Given the description of an element on the screen output the (x, y) to click on. 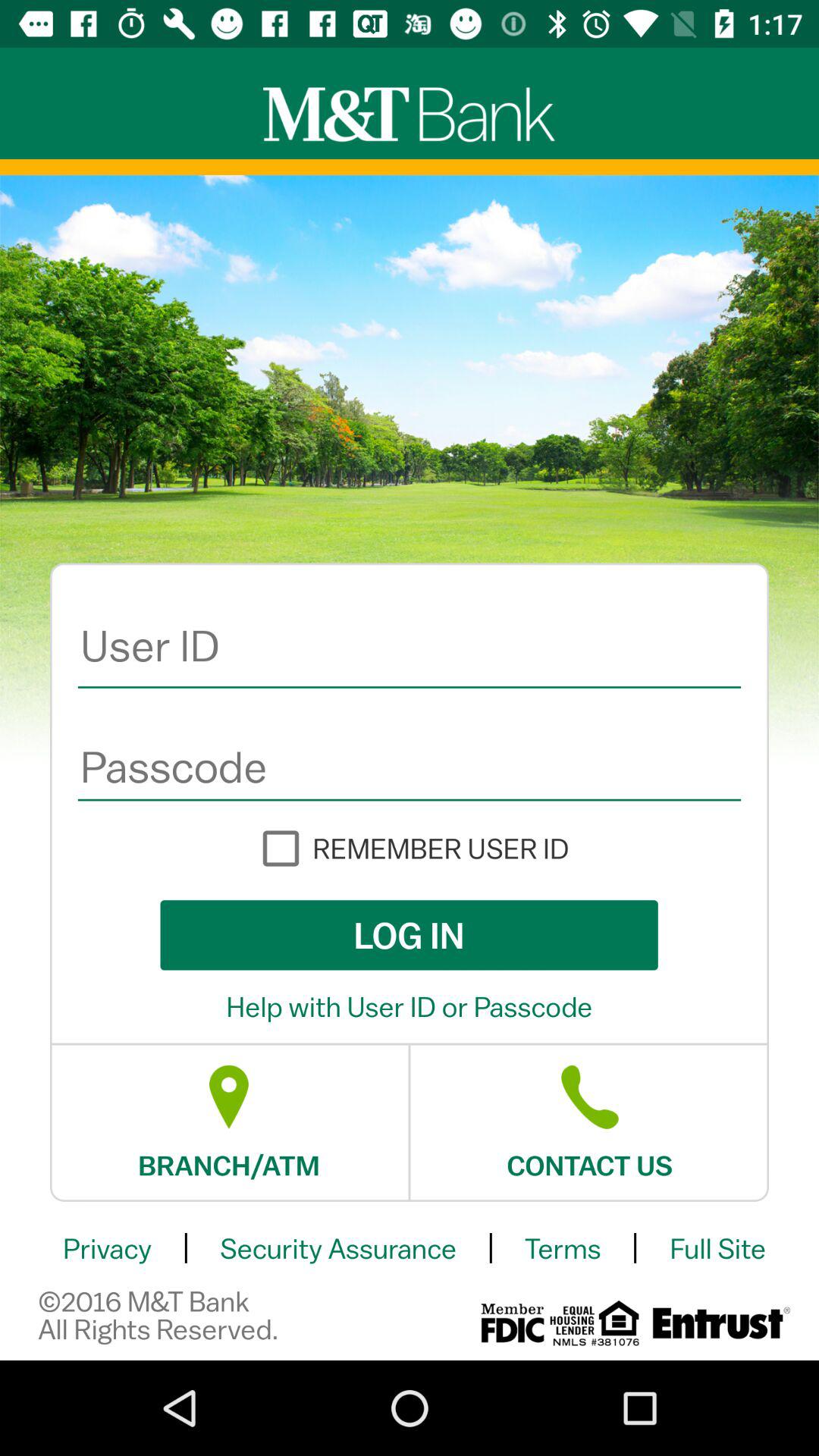
swipe to the full site (717, 1247)
